Given the description of an element on the screen output the (x, y) to click on. 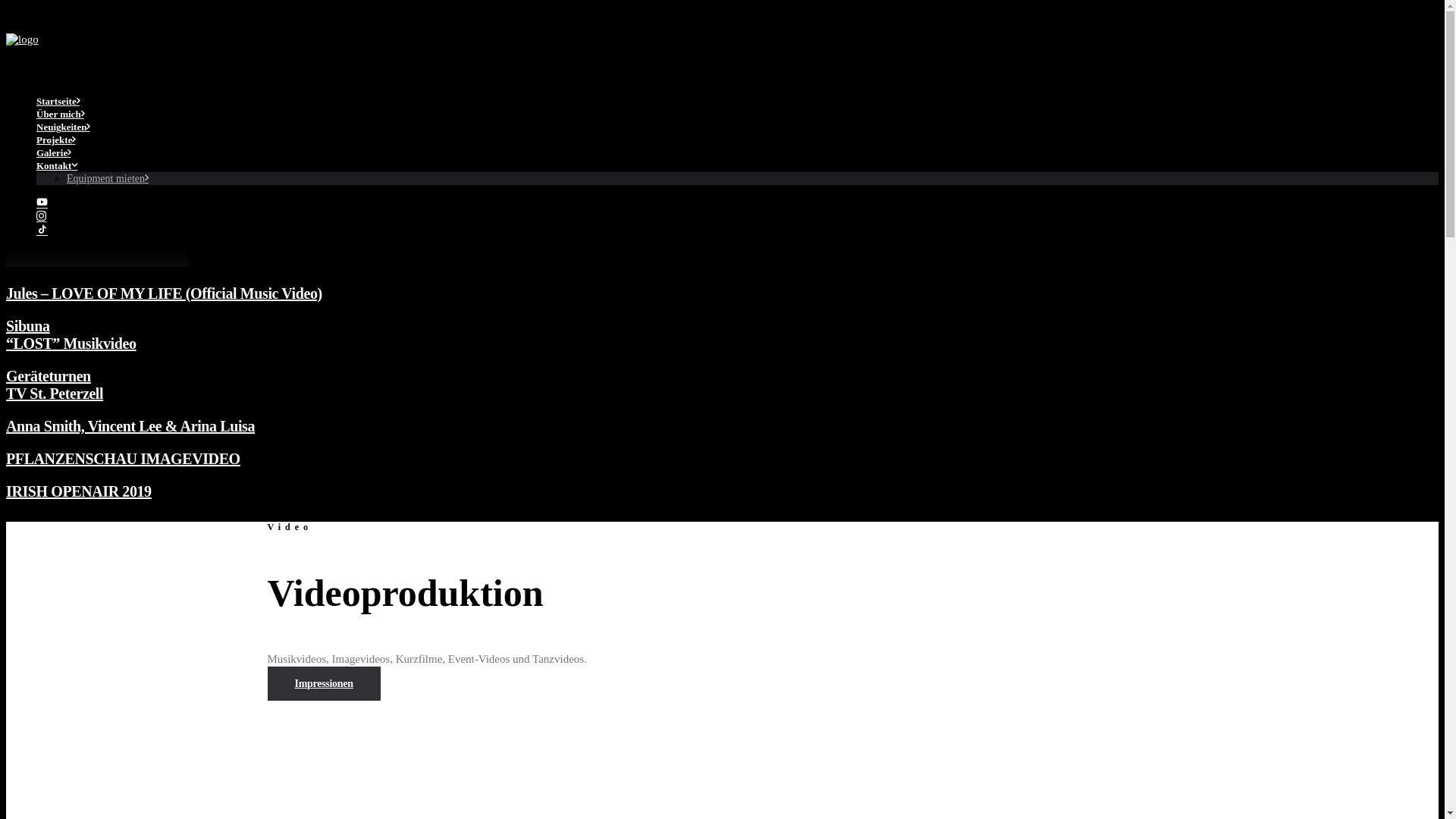
Neuigkeiten Element type: text (62, 126)
Anna Smith, Vincent Lee & Arina Luisa Element type: text (722, 426)
Startseite Element type: text (57, 100)
Projekte Element type: text (55, 139)
Impressionen Element type: text (322, 683)
Galerie Element type: text (53, 152)
Kontakt Element type: text (56, 165)
PFLANZENSCHAU IMAGEVIDEO Element type: text (722, 458)
IRISH OPENAIR 2019 Element type: text (722, 491)
Equipment mieten Element type: text (107, 178)
